Given the description of an element on the screen output the (x, y) to click on. 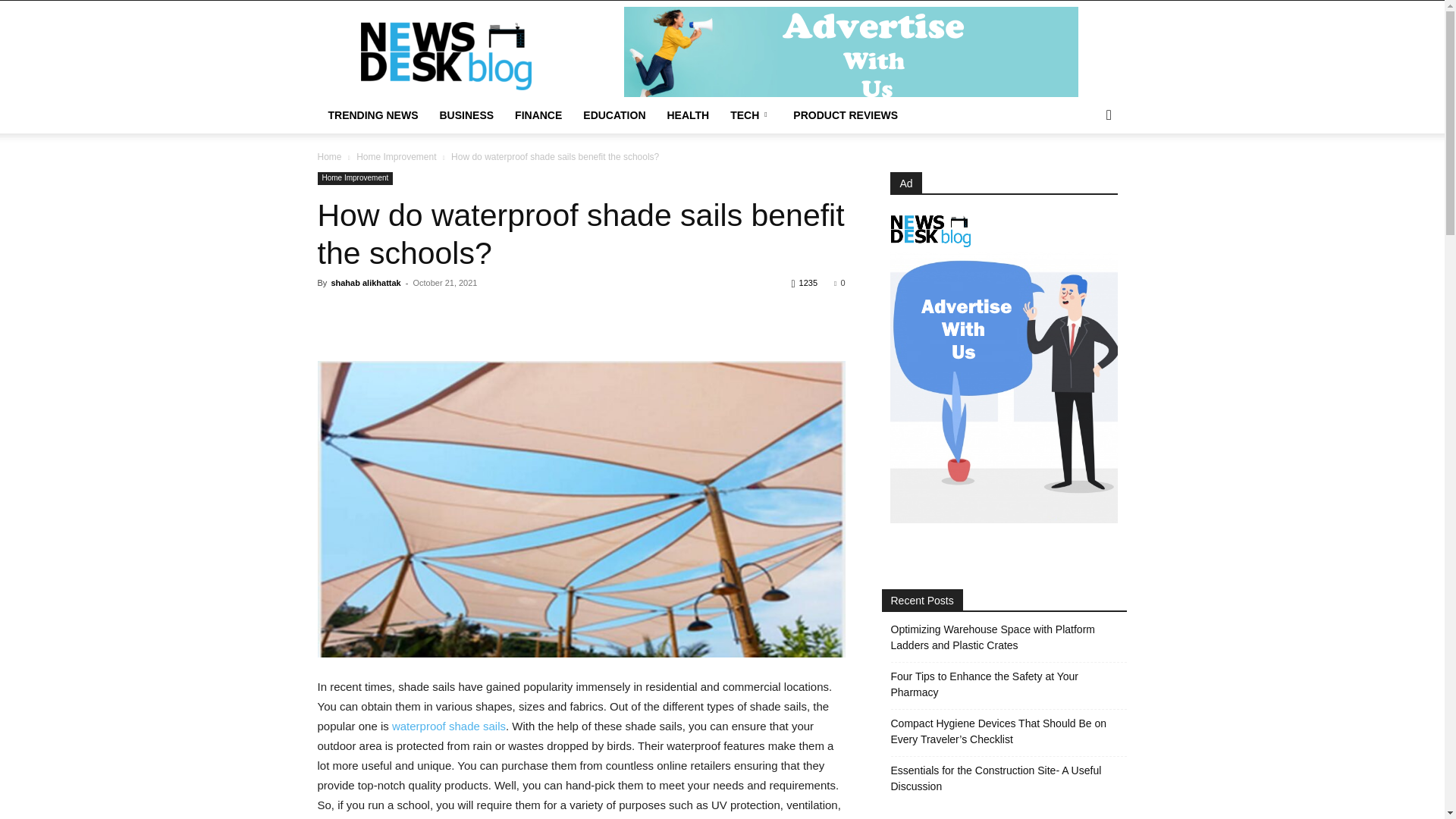
Search (1085, 175)
TECH (751, 115)
TRENDING NEWS (372, 115)
View all posts in Home Improvement (395, 156)
BUSINESS (467, 115)
shahab alikhattak (365, 282)
0 (839, 282)
FINANCE (537, 115)
PRODUCT REVIEWS (845, 115)
